Given the description of an element on the screen output the (x, y) to click on. 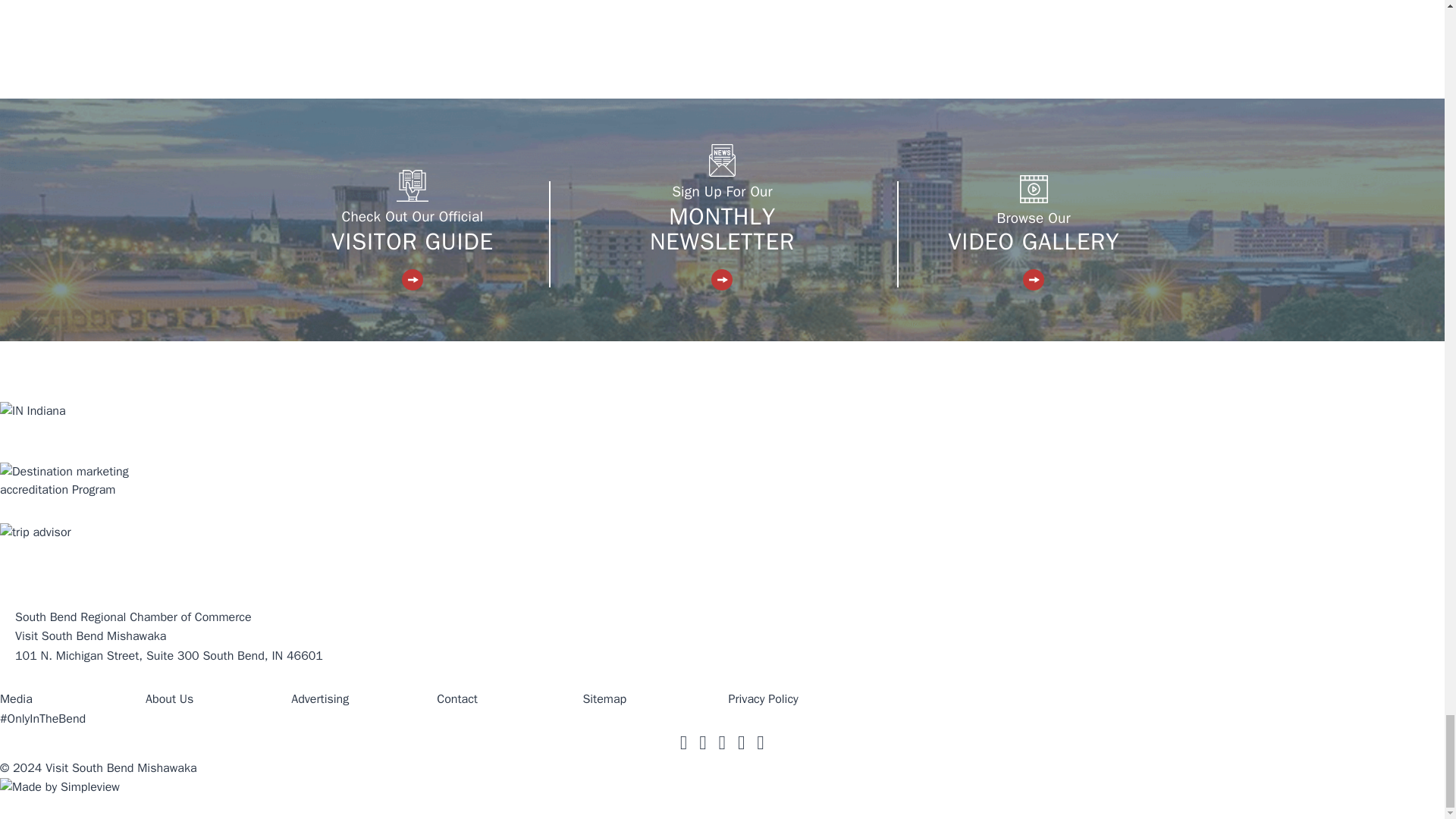
Sitemap (604, 698)
Advertising (320, 698)
Contact (456, 698)
About Us (169, 698)
Media (16, 698)
Privacy Policy (762, 698)
